Given the description of an element on the screen output the (x, y) to click on. 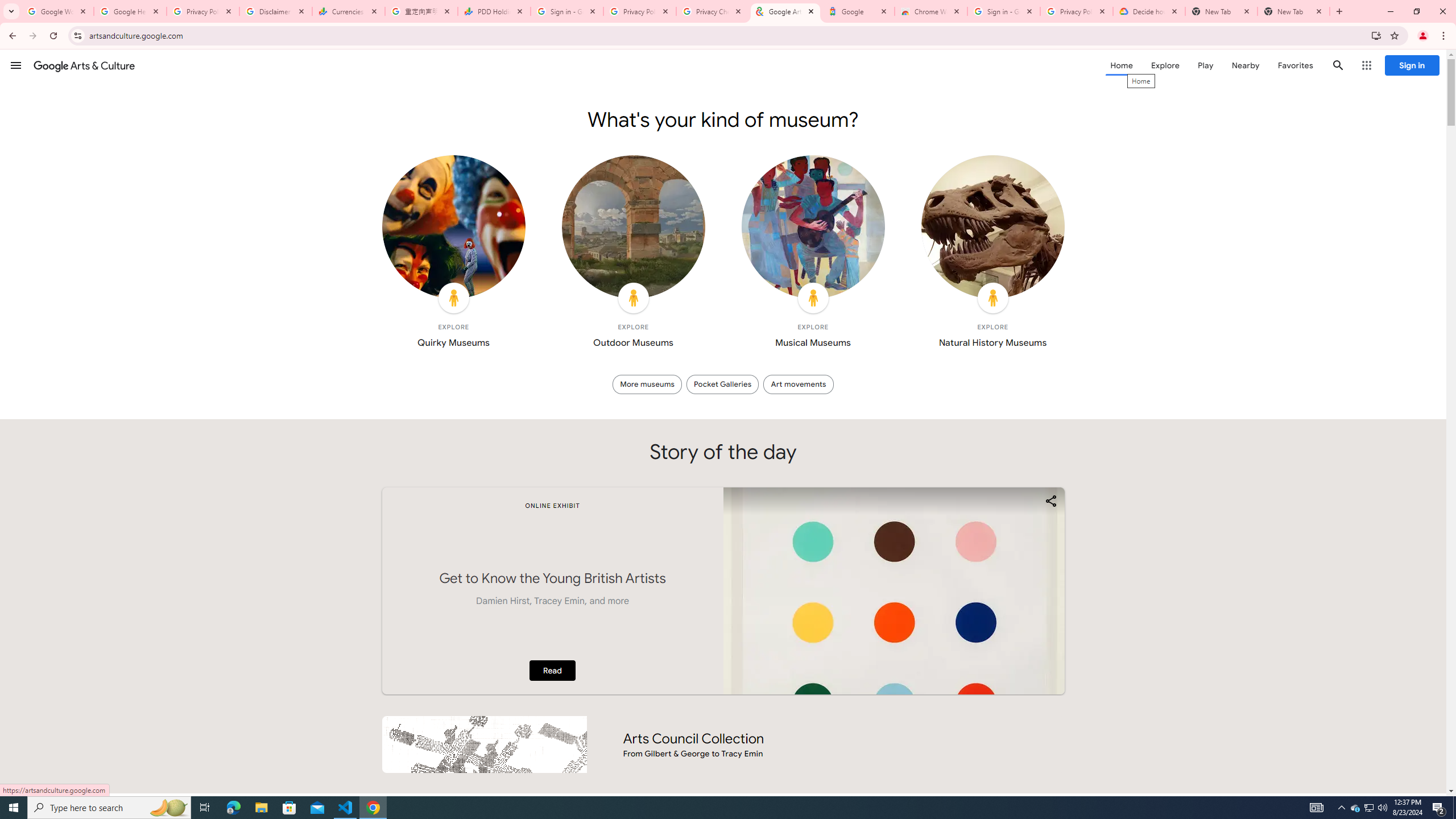
Play (1205, 65)
Chrome Web Store - Color themes by Chrome (930, 11)
Nearby (1244, 65)
EXPLORE Outdoor Museums (633, 254)
Install Google Arts & Culture (1376, 35)
Sign in - Google Accounts (566, 11)
Privacy Checkup (712, 11)
Pocket Galleries (721, 384)
